Given the description of an element on the screen output the (x, y) to click on. 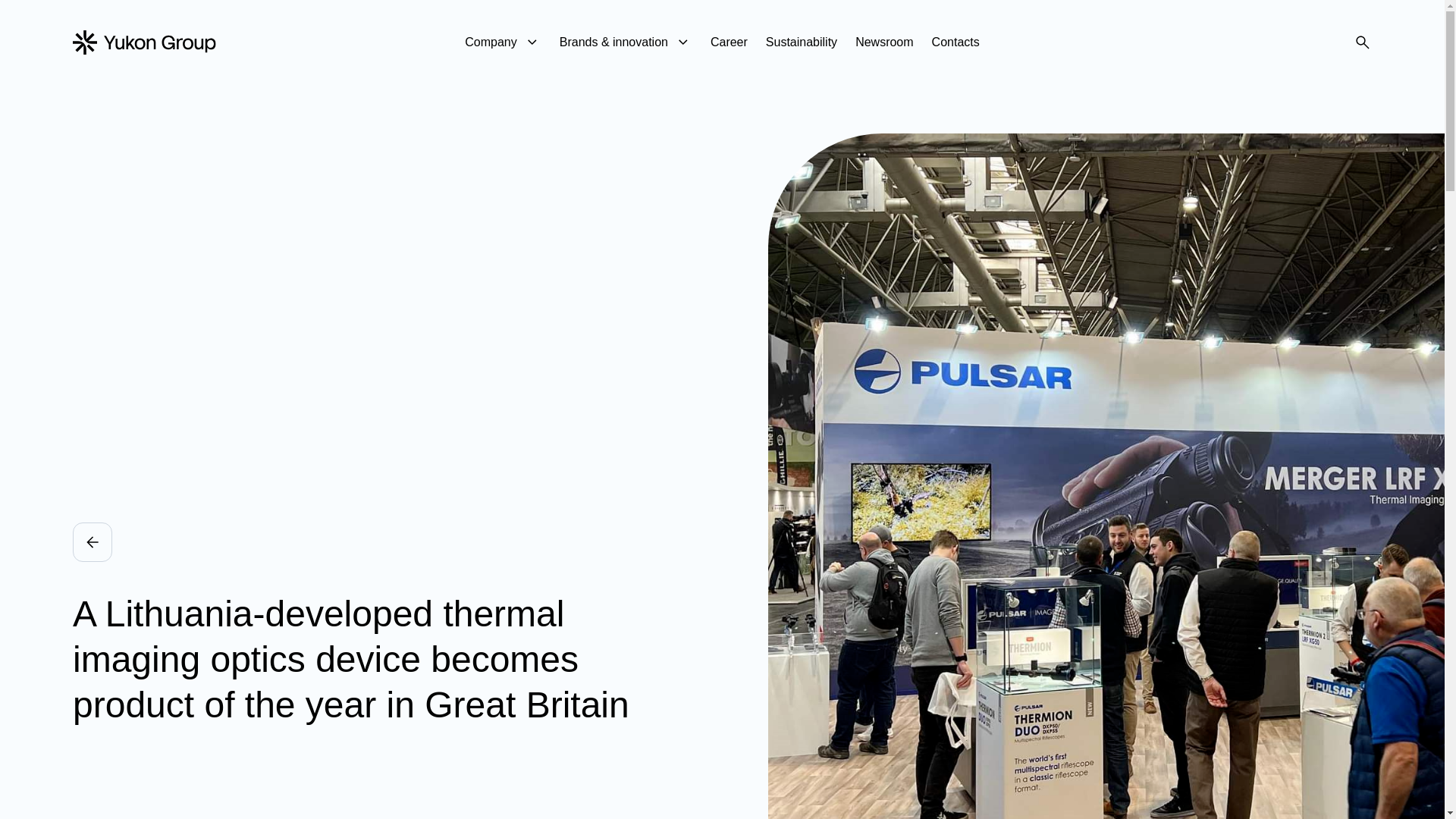
Company (502, 42)
Contacts (955, 42)
Career (729, 42)
Newsroom (884, 42)
Sustainability (801, 42)
